Given the description of an element on the screen output the (x, y) to click on. 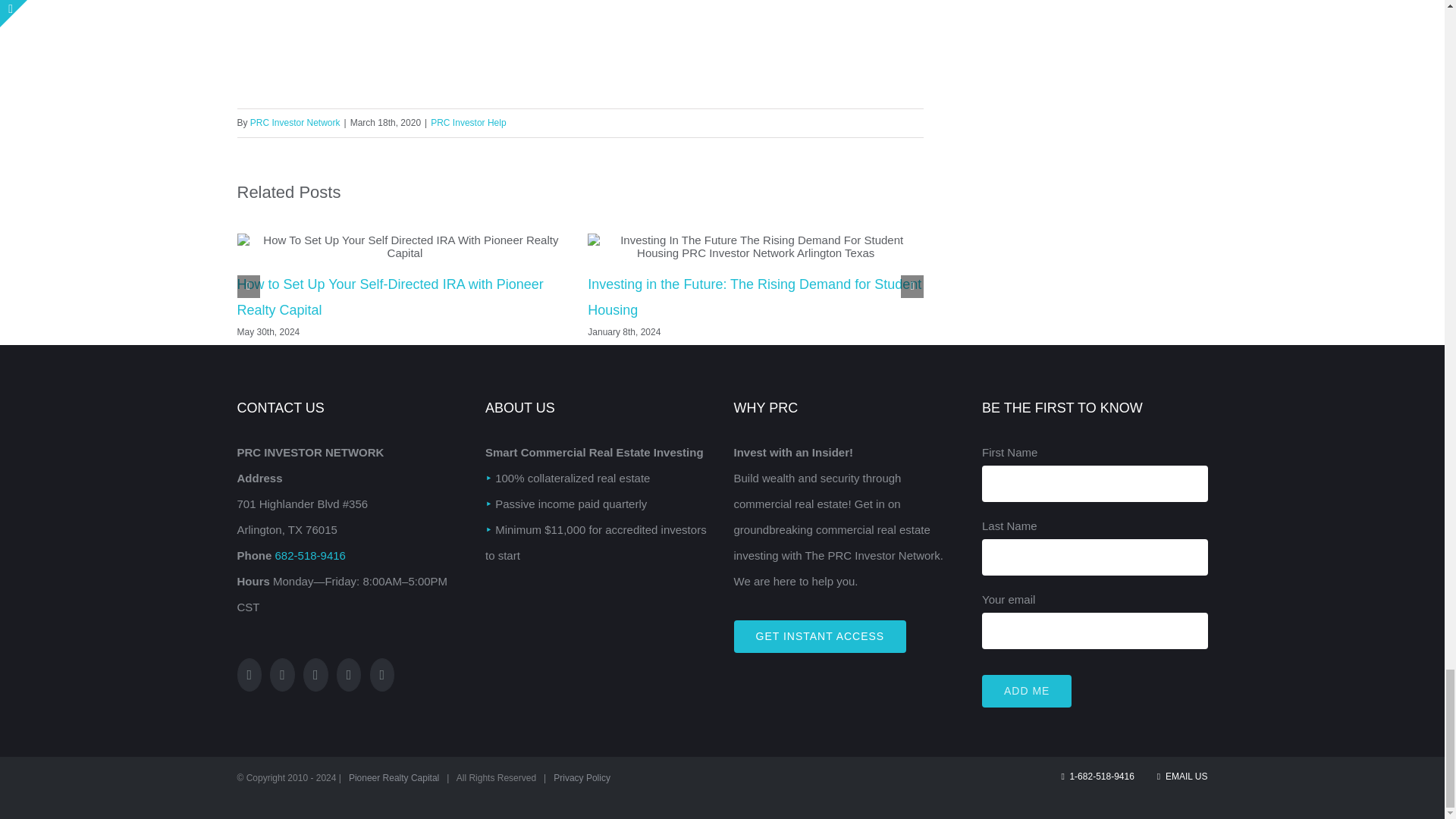
Share This Story, Choose Your Platform! (579, 46)
Facebook (765, 1)
Pinterest (860, 1)
Posts by PRC Investor Network (295, 122)
Email (892, 1)
X (797, 1)
PRC Investor Network (295, 122)
